Given the description of an element on the screen output the (x, y) to click on. 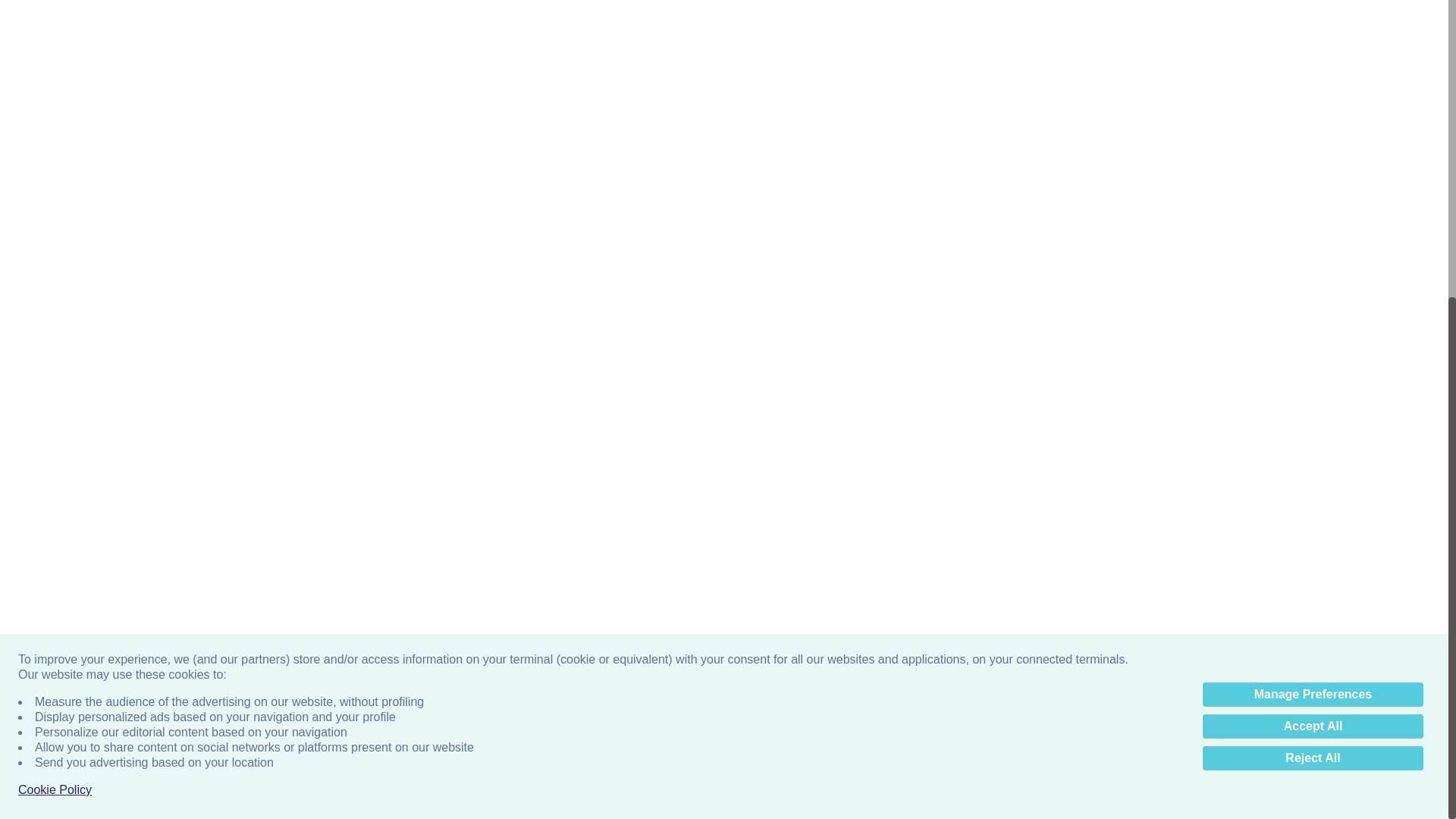
Manage Preferences (1312, 227)
Reject All (1312, 290)
Accept All (1312, 258)
Cookie Policy (54, 322)
